Given the description of an element on the screen output the (x, y) to click on. 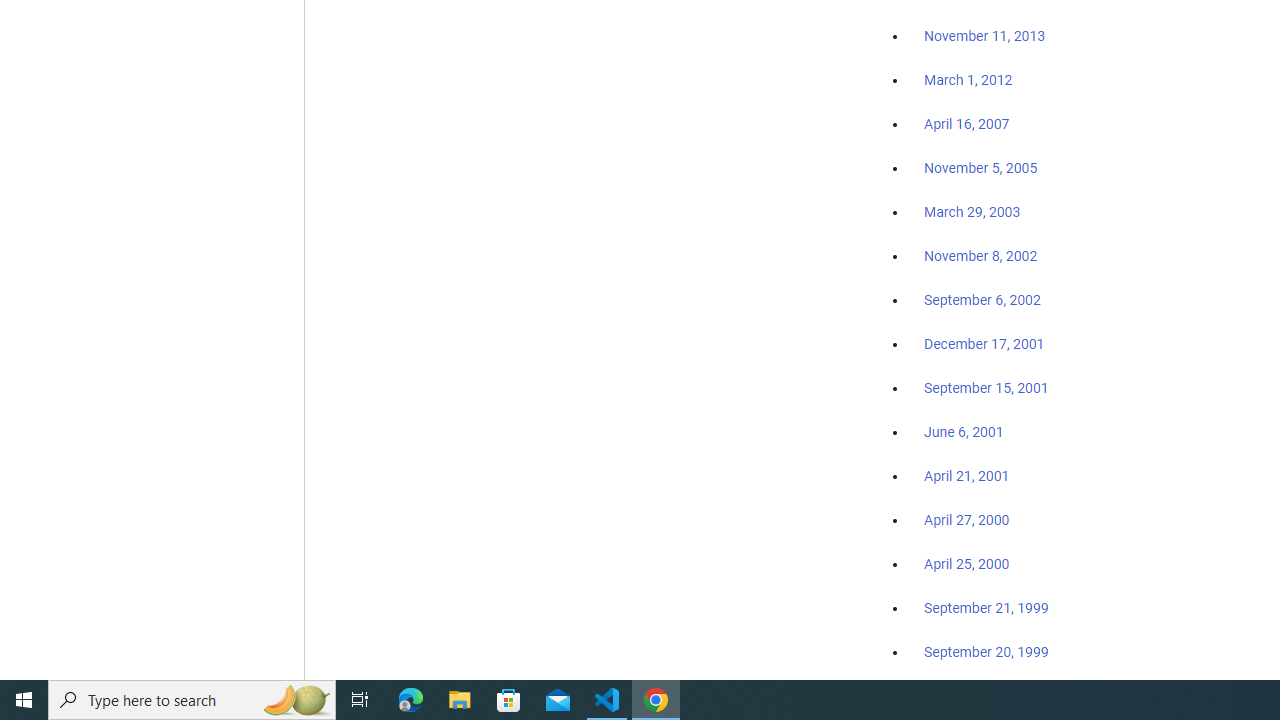
November 8, 2002 (981, 255)
September 20, 1999 (986, 651)
November 5, 2005 (981, 168)
December 17, 2001 (984, 343)
June 6, 2001 (963, 431)
April 27, 2000 (966, 520)
September 6, 2002 (982, 299)
April 16, 2007 (966, 124)
April 21, 2001 (966, 476)
September 15, 2001 (986, 387)
September 21, 1999 (986, 608)
March 29, 2003 (972, 212)
March 1, 2012 (968, 81)
April 25, 2000 (966, 564)
November 11, 2013 (984, 37)
